Given the description of an element on the screen output the (x, y) to click on. 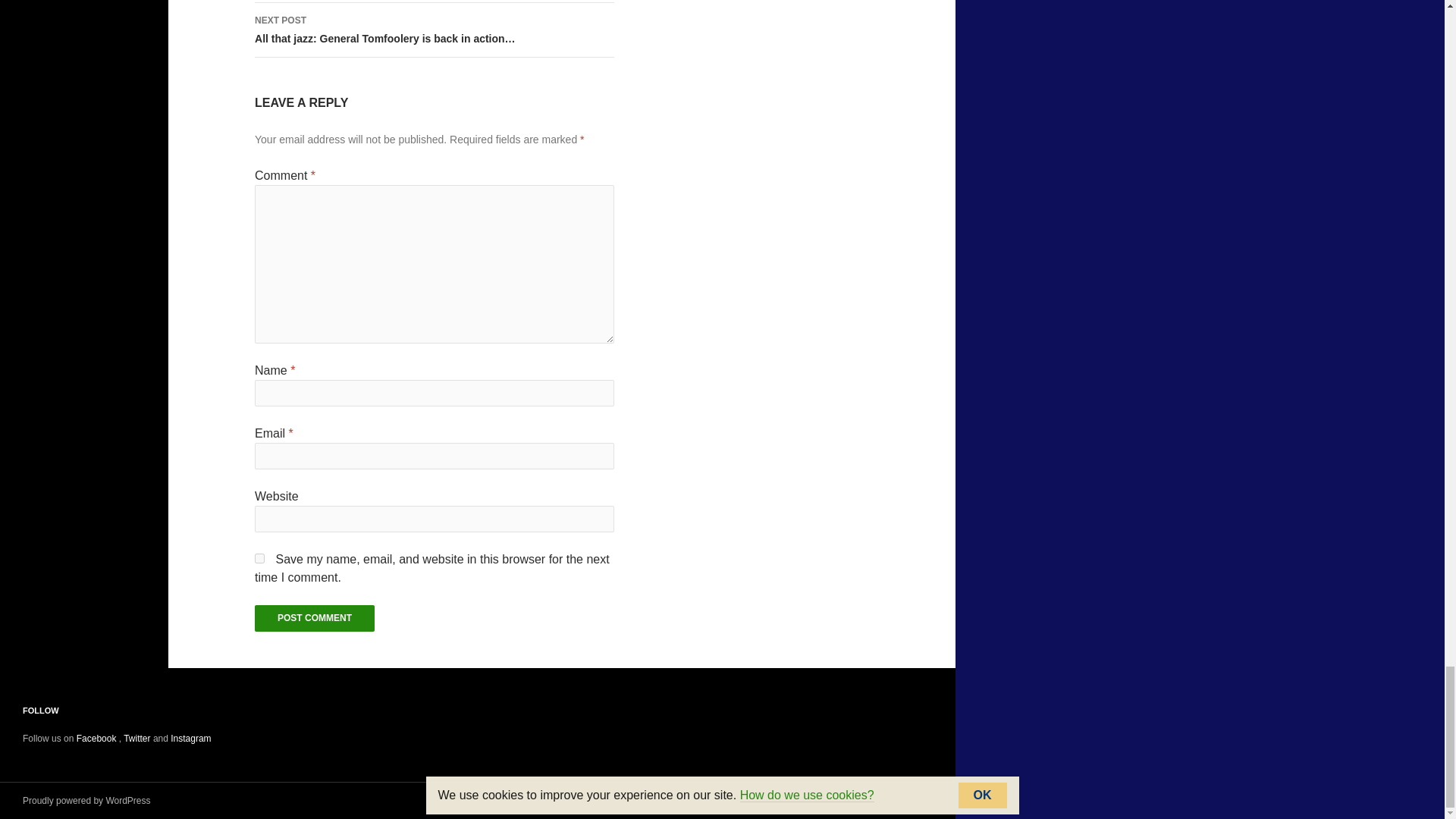
yes (259, 558)
Post Comment (314, 618)
Post Comment (314, 618)
